Given the description of an element on the screen output the (x, y) to click on. 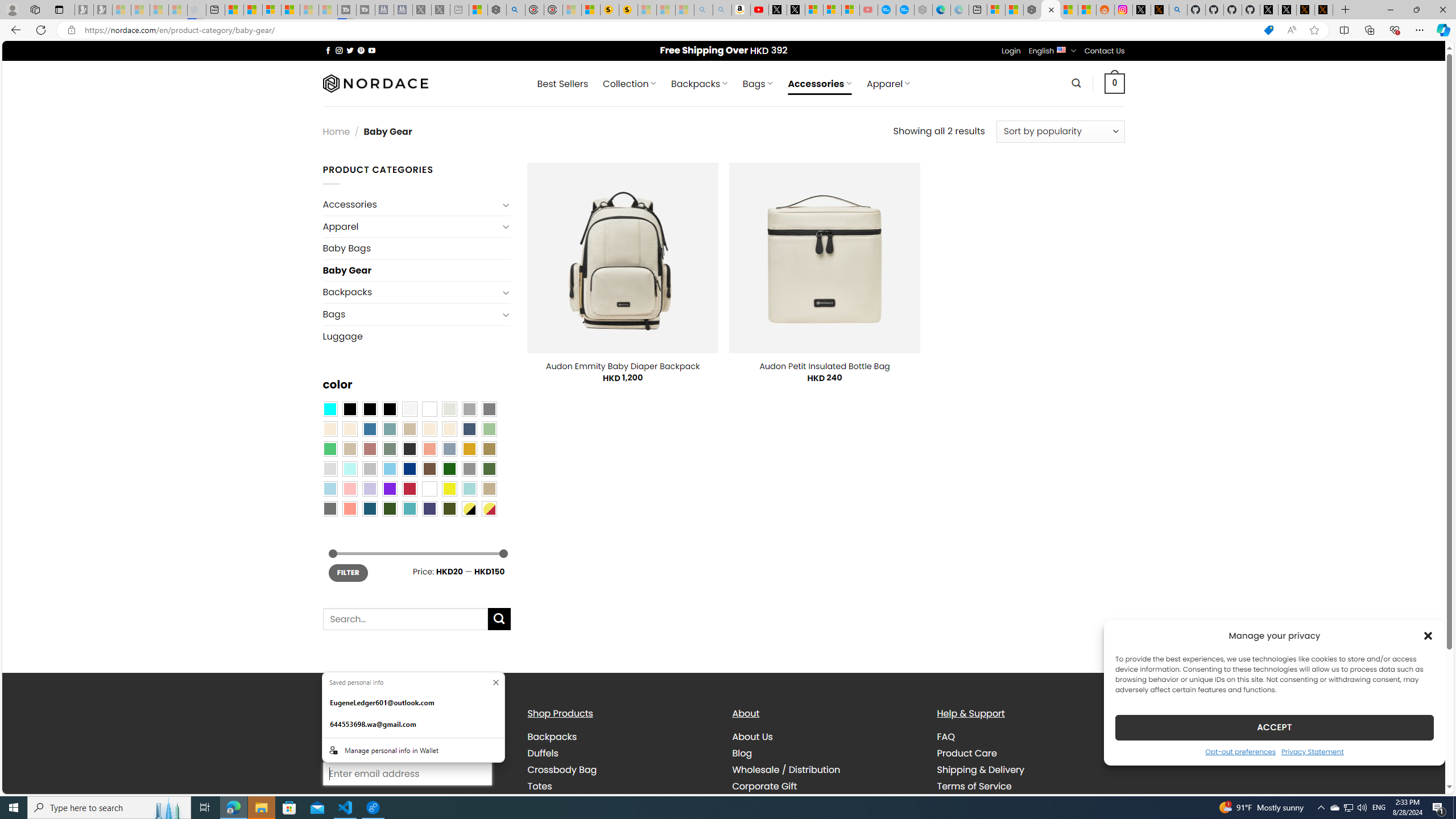
Crossbody Bag (620, 769)
Dull Nickle (329, 508)
Capri Blue (369, 508)
Baby Bags (416, 248)
Sky Blue (389, 468)
Shanghai, China Weather trends | Microsoft Weather (1086, 9)
Shop order (1060, 131)
Newsletter Sign Up - Sleeping (102, 9)
